Given the description of an element on the screen output the (x, y) to click on. 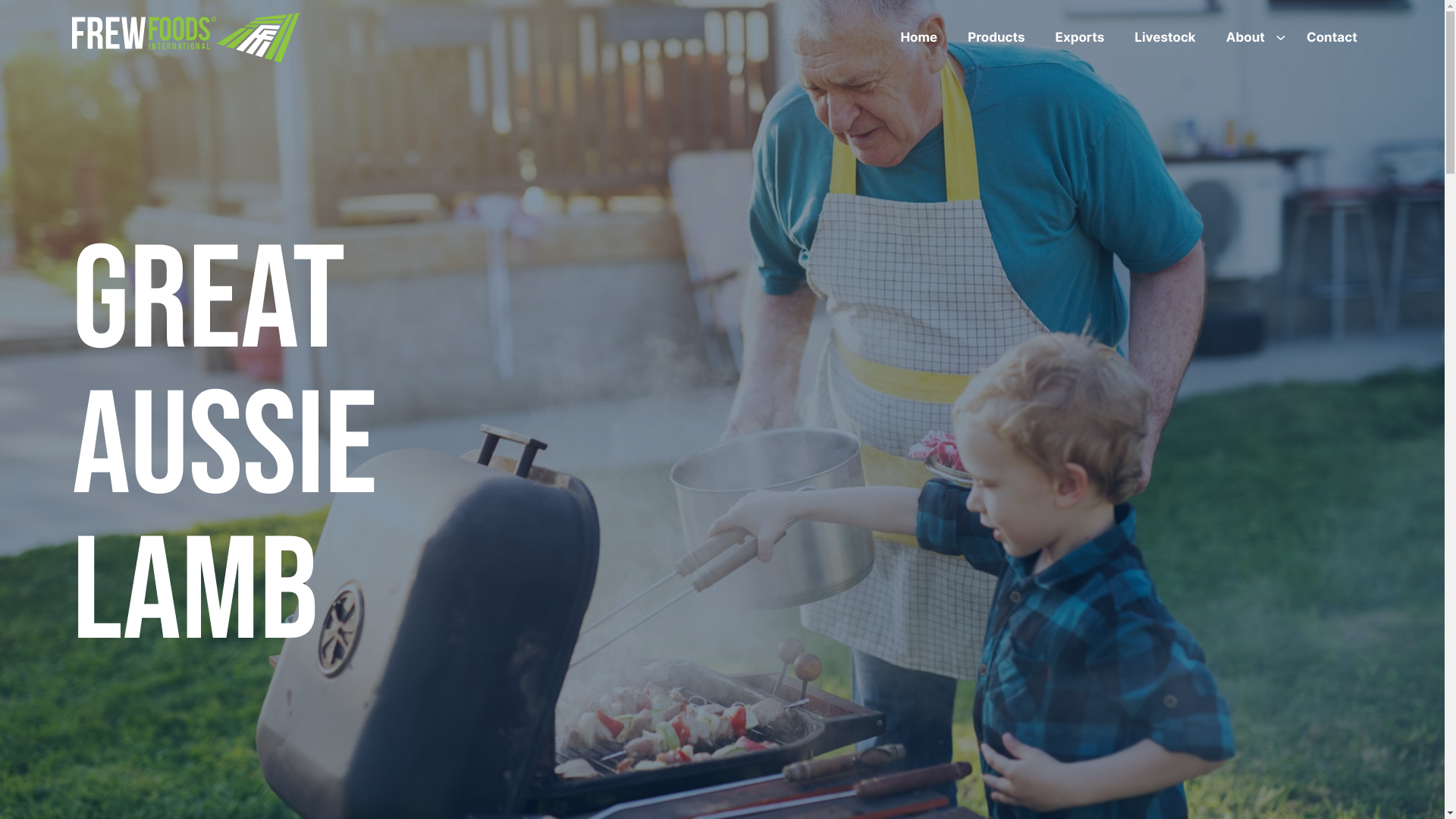
Exports Element type: text (1079, 38)
Home Element type: text (918, 38)
About Element type: text (1251, 38)
Products Element type: text (995, 38)
Contact Element type: text (1331, 38)
Livestock Element type: text (1164, 38)
Skip to content Element type: text (3, 3)
